Given the description of an element on the screen output the (x, y) to click on. 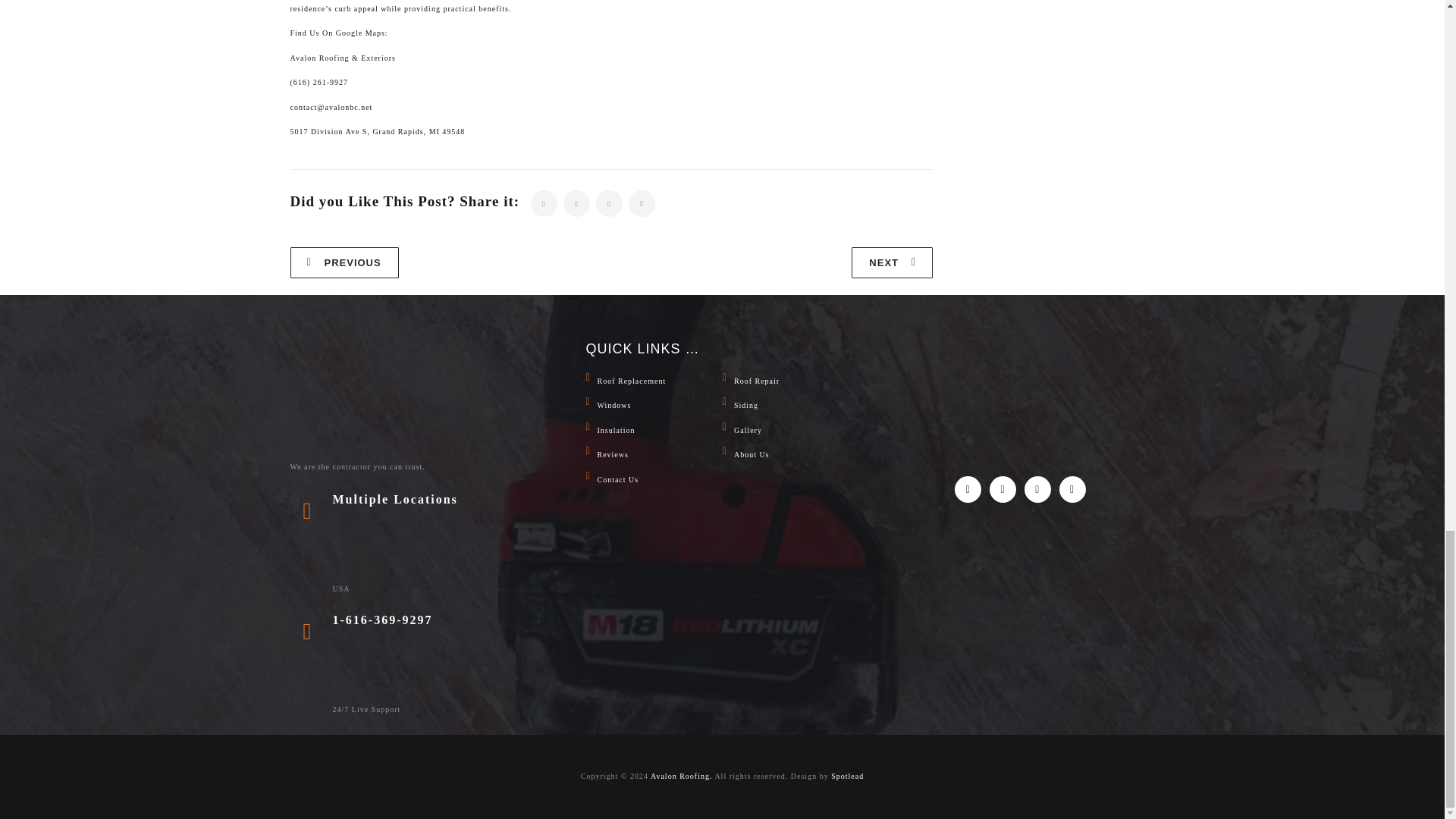
The Guide to Choosing Vinyl Windows (892, 262)
Google Maps (360, 32)
5017 Division Ave S, Grand Rapids, MI 49548 (376, 131)
